Given the description of an element on the screen output the (x, y) to click on. 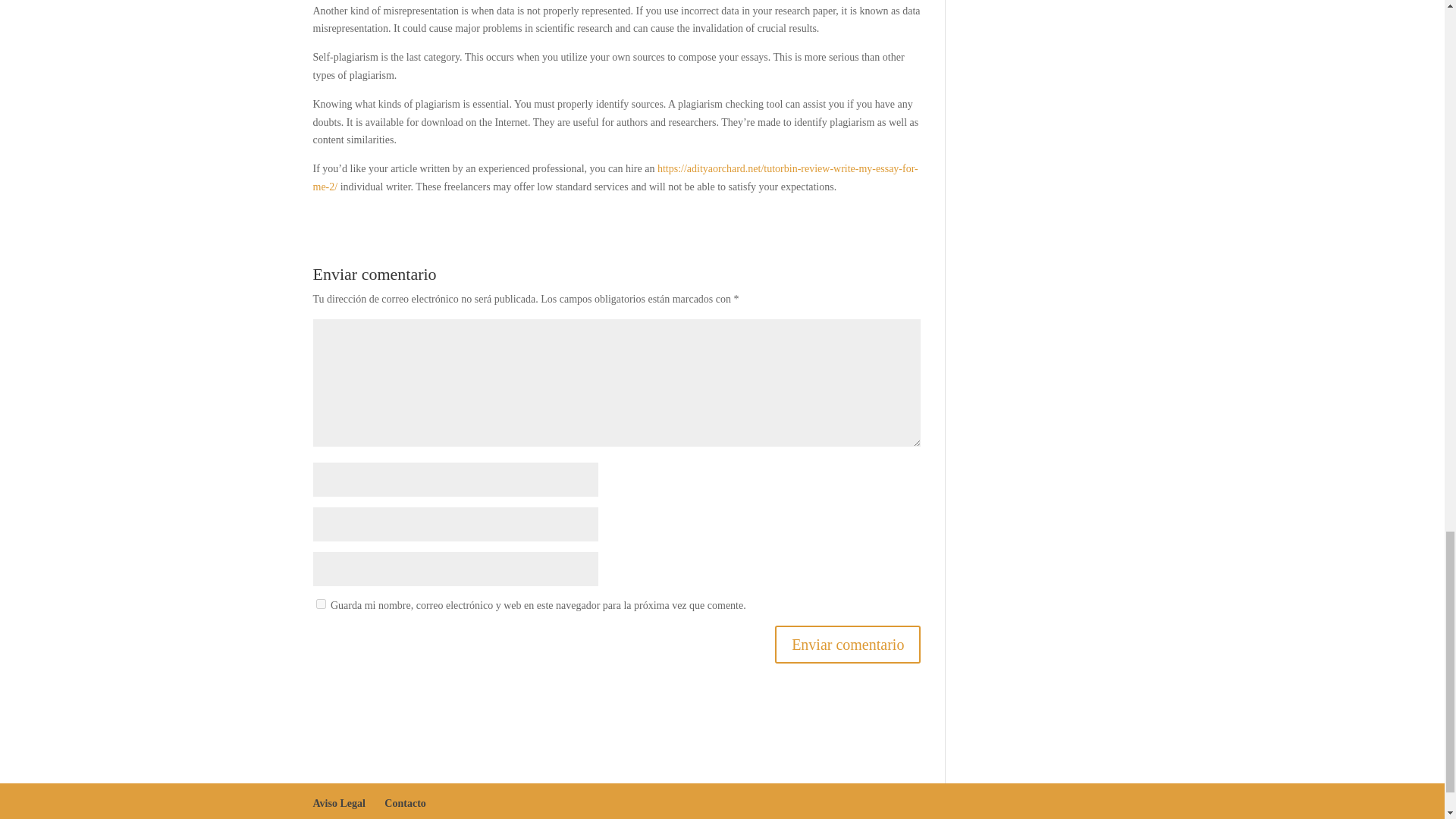
Aviso Legal (339, 803)
yes (319, 603)
Contacto (404, 803)
Enviar comentario (847, 644)
Enviar comentario (847, 644)
